Given the description of an element on the screen output the (x, y) to click on. 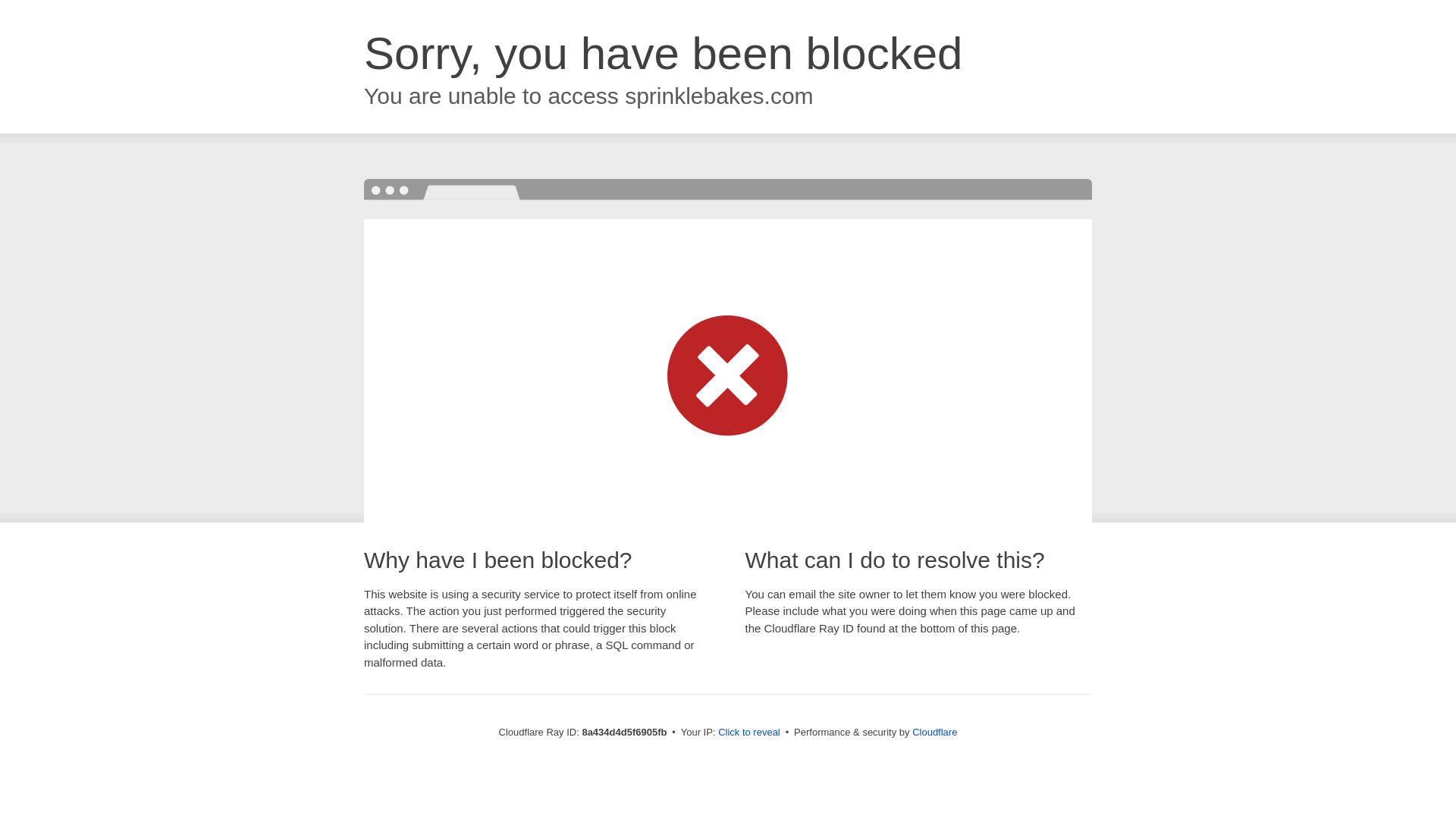
Cloudflare (934, 731)
Click to reveal (748, 732)
